Given the description of an element on the screen output the (x, y) to click on. 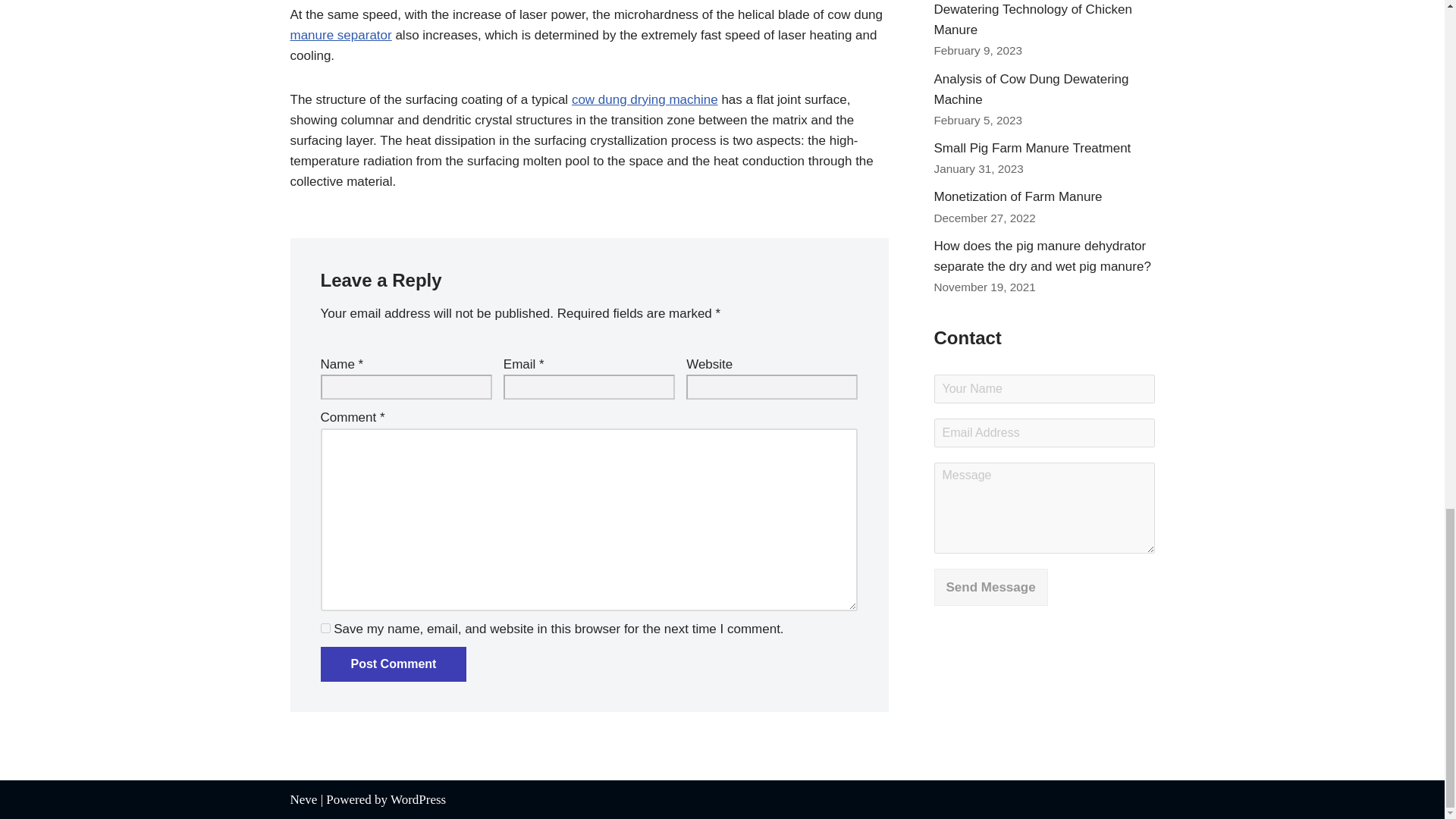
Post Comment (392, 664)
yes (325, 628)
